Given the description of an element on the screen output the (x, y) to click on. 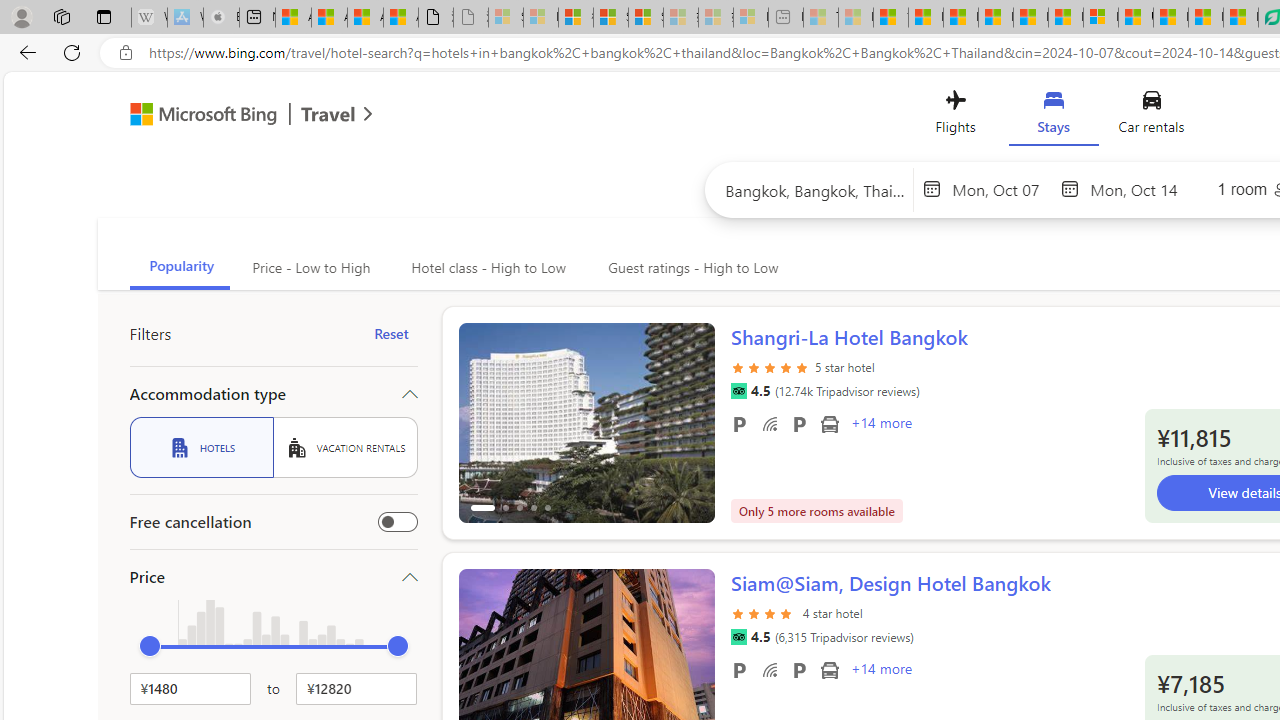
Valet parking (798, 669)
Microsoft account | Account Checkup - Sleeping (750, 17)
Free parking (738, 669)
Price - Low to High (309, 268)
Class: msft-bing-logo msft-bing-logo-desktop (198, 114)
Food and Drink - MSN (925, 17)
VACATION RENTALS (345, 447)
Hotel class - High to Low (485, 268)
Microsoft Bing (194, 116)
